Given the description of an element on the screen output the (x, y) to click on. 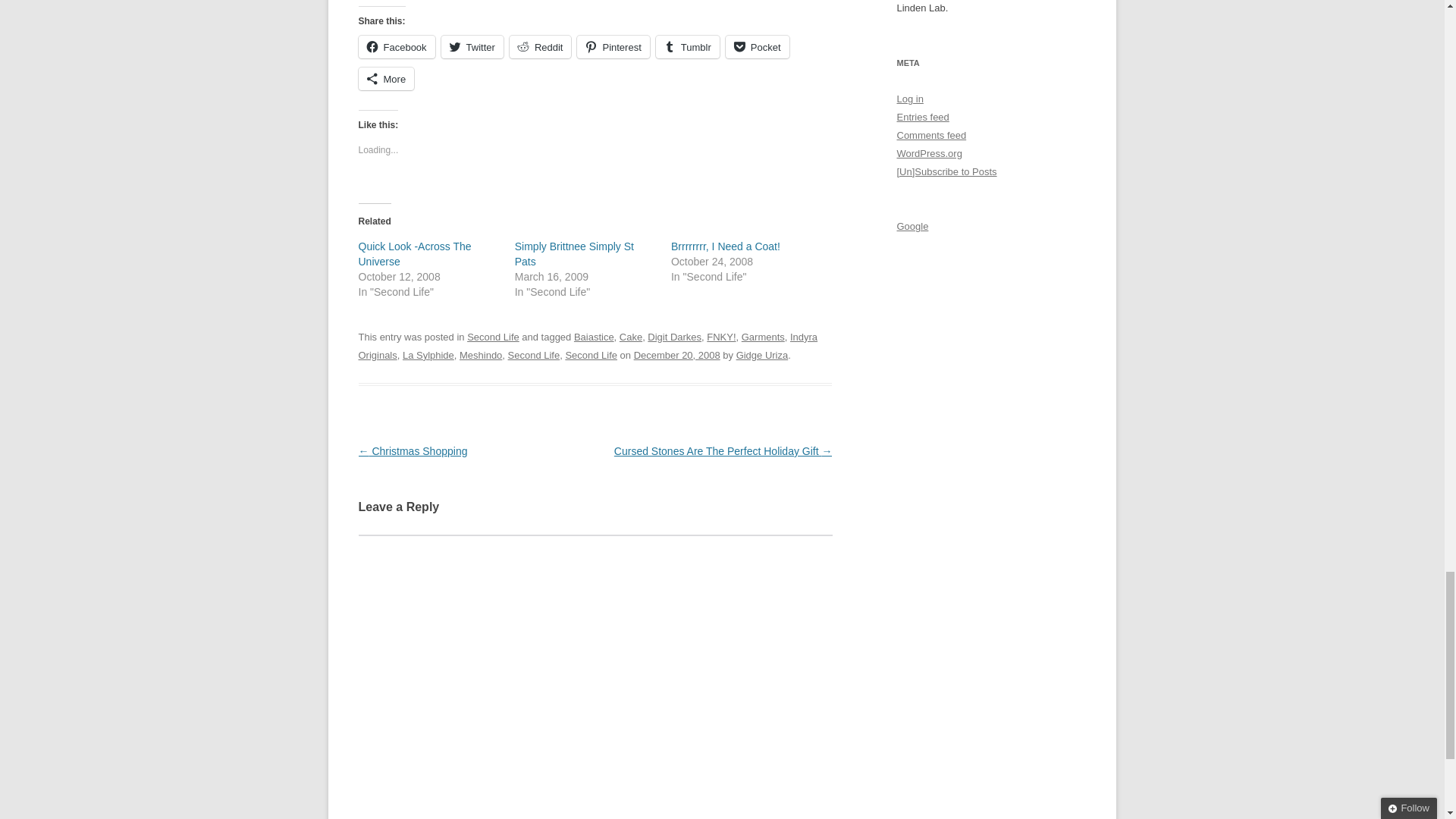
Tumblr (687, 47)
Digit Darkes (674, 337)
Simply Brittnee Simply St Pats (574, 253)
Garments (762, 337)
Cake (631, 337)
Indyra Originals (587, 346)
Second Life (590, 355)
Second Life (493, 337)
Click to share on Pinterest (612, 47)
Click to share on Twitter (472, 47)
